Given the description of an element on the screen output the (x, y) to click on. 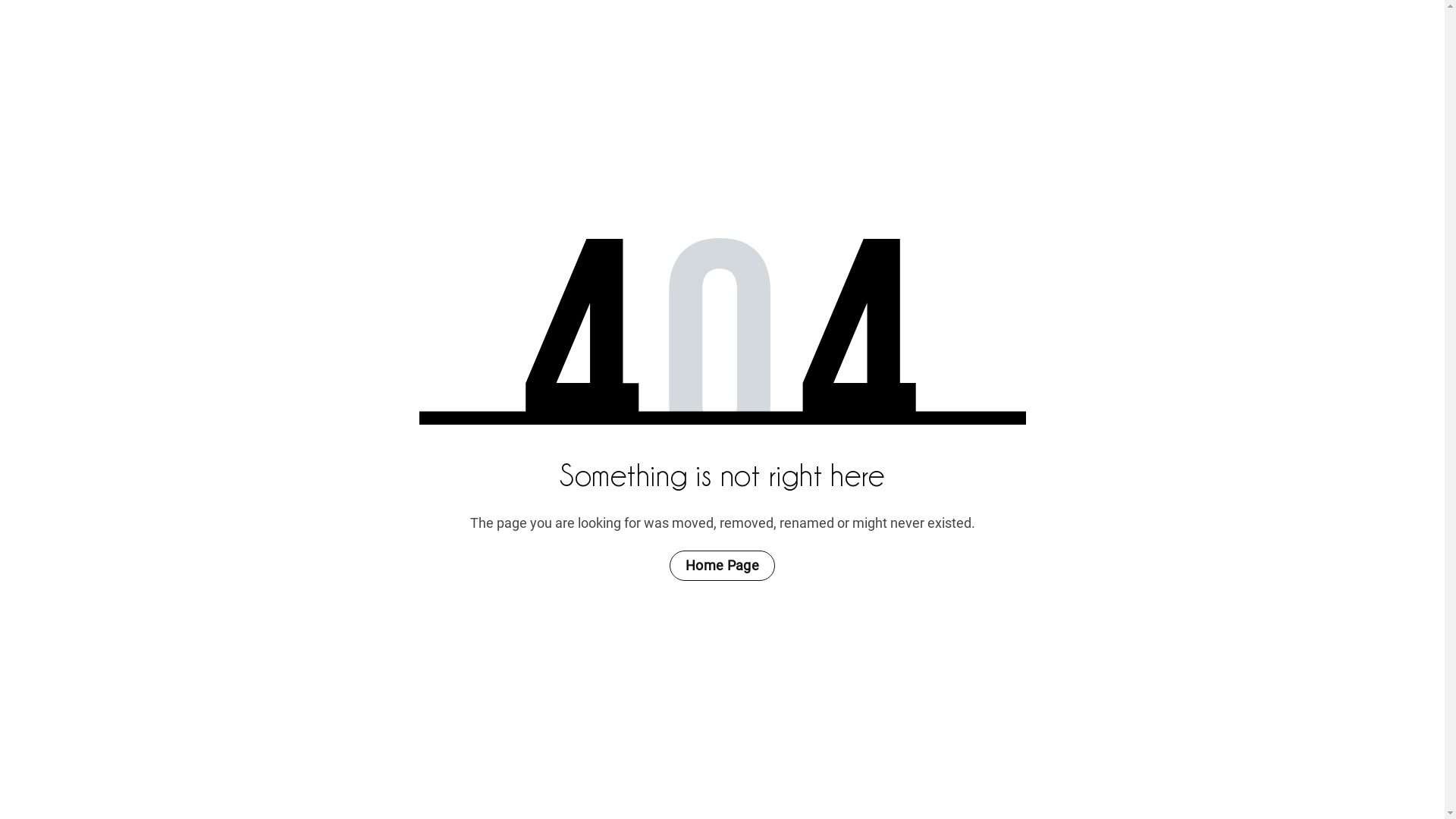
Home Page Element type: text (722, 565)
